Given the description of an element on the screen output the (x, y) to click on. 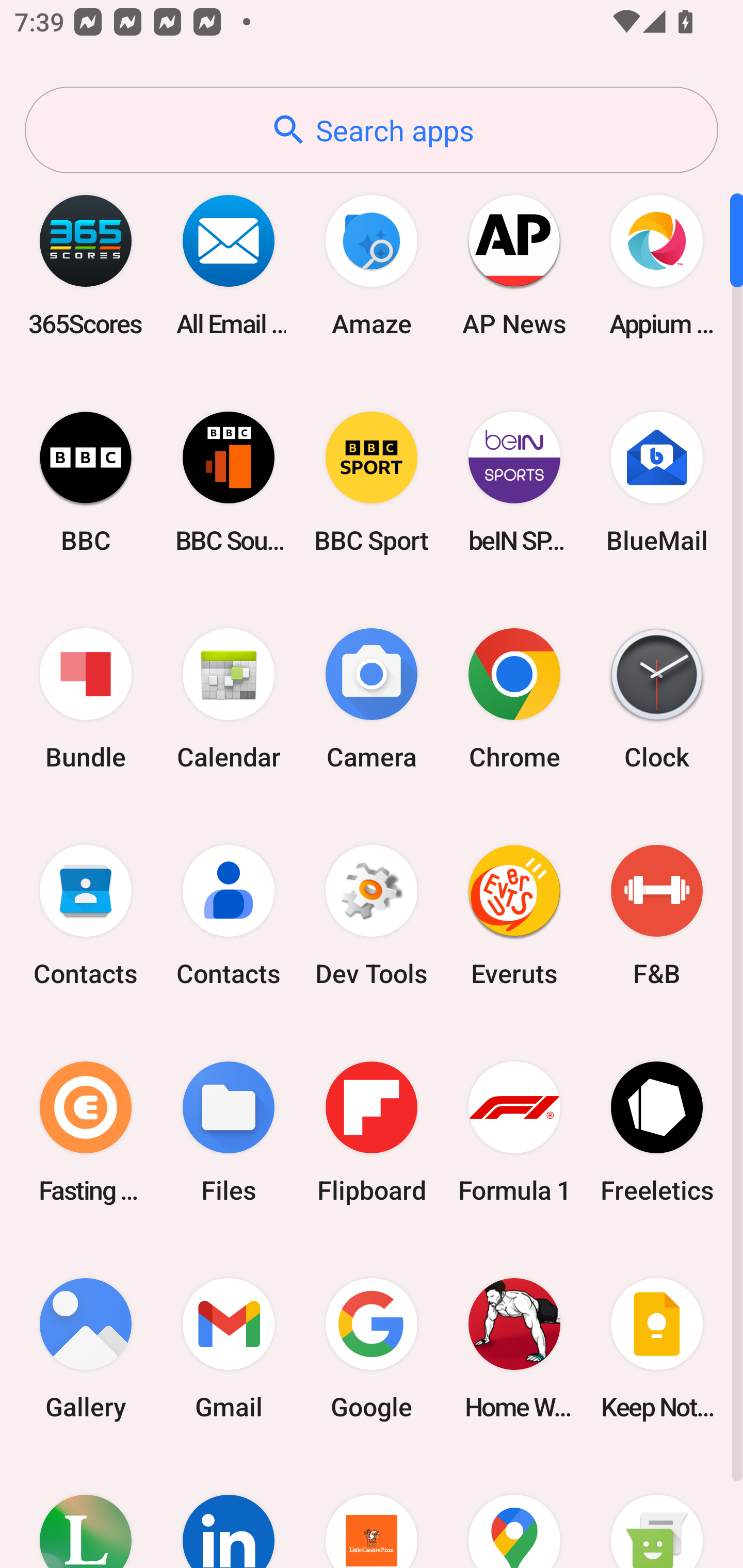
  Search apps (371, 130)
365Scores (85, 264)
All Email Connect (228, 264)
Amaze (371, 264)
AP News (514, 264)
Appium Settings (656, 264)
BBC (85, 482)
BBC Sounds (228, 482)
BBC Sport (371, 482)
beIN SPORTS (514, 482)
BlueMail (656, 482)
Bundle (85, 699)
Calendar (228, 699)
Camera (371, 699)
Chrome (514, 699)
Clock (656, 699)
Contacts (85, 915)
Contacts (228, 915)
Dev Tools (371, 915)
Everuts (514, 915)
F&B (656, 915)
Fasting Coach (85, 1131)
Files (228, 1131)
Flipboard (371, 1131)
Formula 1 (514, 1131)
Freeletics (656, 1131)
Gallery (85, 1348)
Gmail (228, 1348)
Google (371, 1348)
Home Workout (514, 1348)
Keep Notes (656, 1348)
Lifesum (85, 1512)
LinkedIn (228, 1512)
Little Caesars Pizza (371, 1512)
Maps (514, 1512)
Messaging (656, 1512)
